Given the description of an element on the screen output the (x, y) to click on. 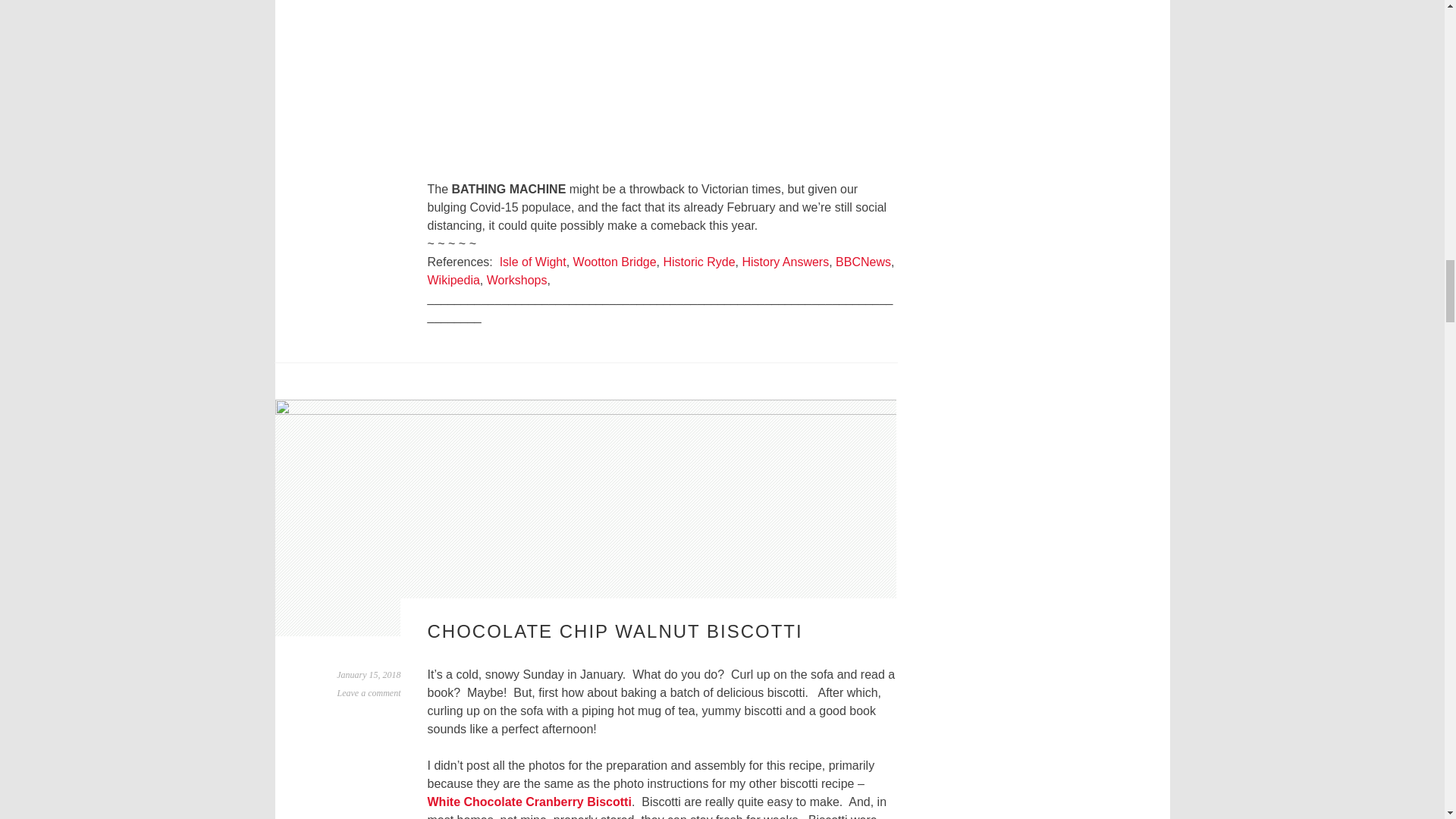
Leave a comment (369, 692)
January 15, 2018 (368, 674)
BBCNews (863, 261)
Isle of Wight (532, 261)
Permalink to CHOCOLATE CHIP WALNUT BISCOTTI (368, 674)
History Answers (784, 261)
White Chocolate Cranberry Biscotti (529, 801)
Wootton Bridge (614, 261)
Workshops (516, 279)
CHOCOLATE CHIP WALNUT BISCOTTI (615, 630)
Historic Ryde (698, 261)
Wikipedia (454, 279)
